Given the description of an element on the screen output the (x, y) to click on. 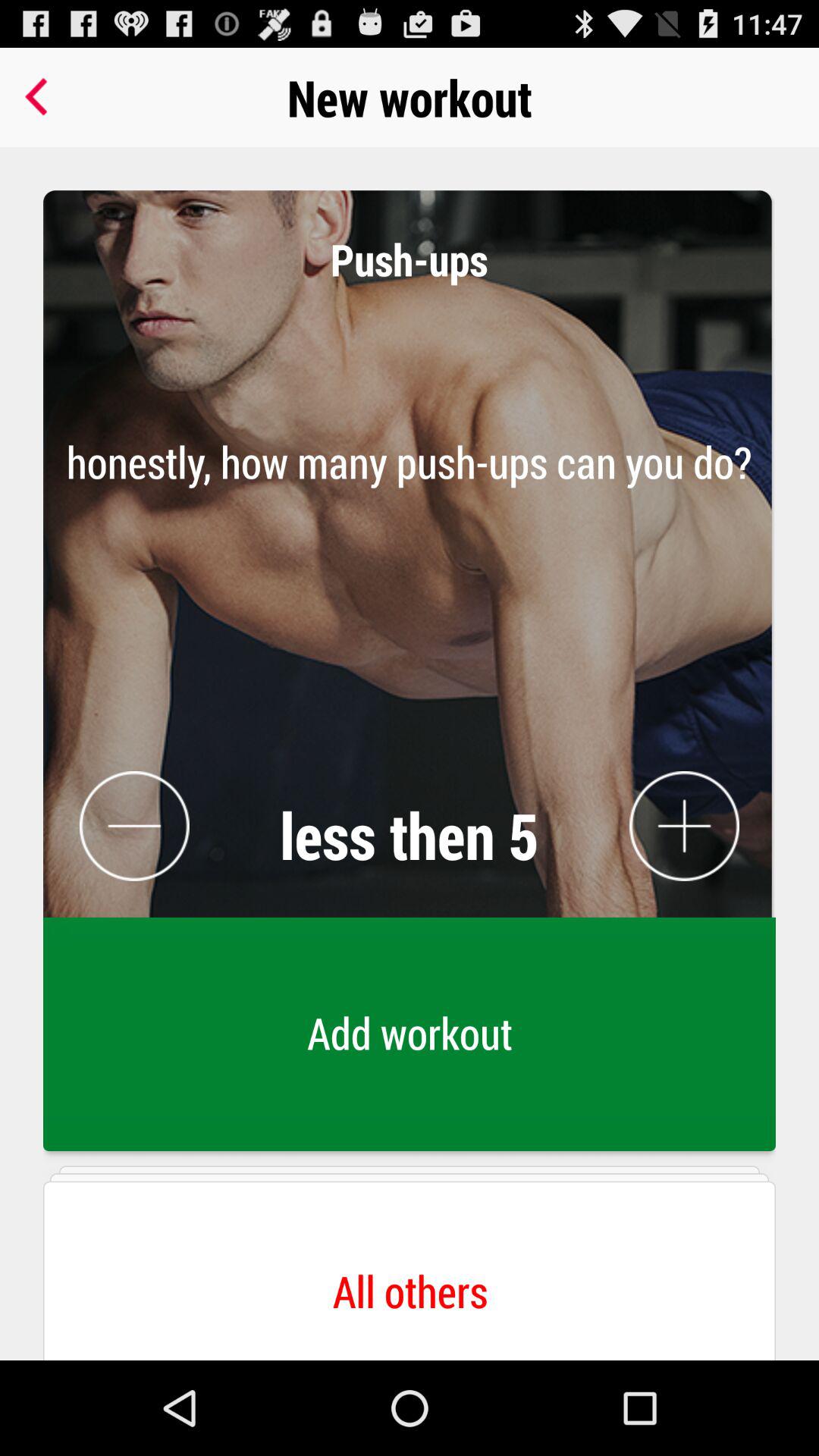
click the button above all others item (409, 614)
